Given the description of an element on the screen output the (x, y) to click on. 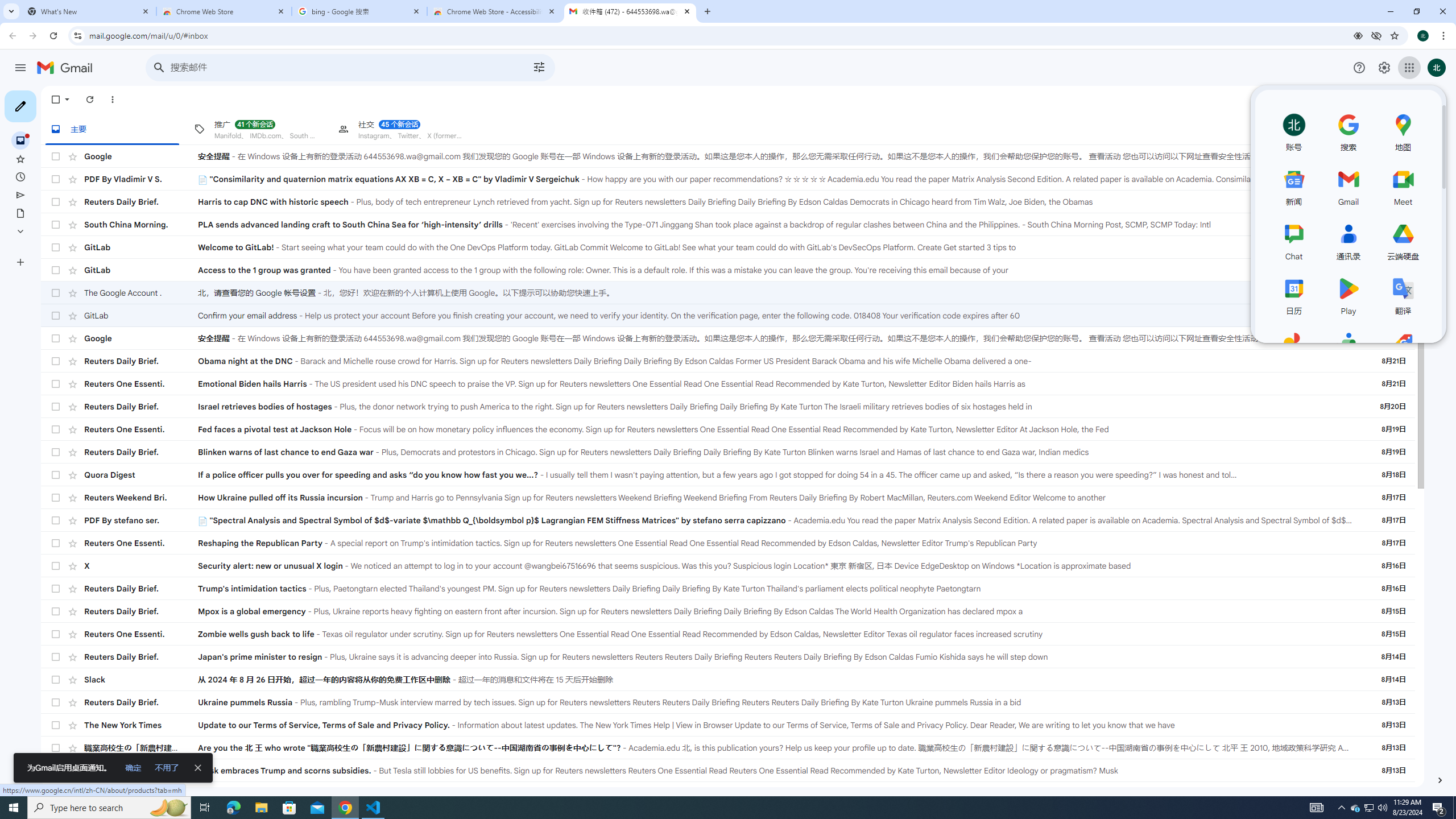
Reuters Weekend Bri. (141, 497)
Back (10, 35)
Restore (1416, 11)
Address and search bar (717, 35)
